Given the description of an element on the screen output the (x, y) to click on. 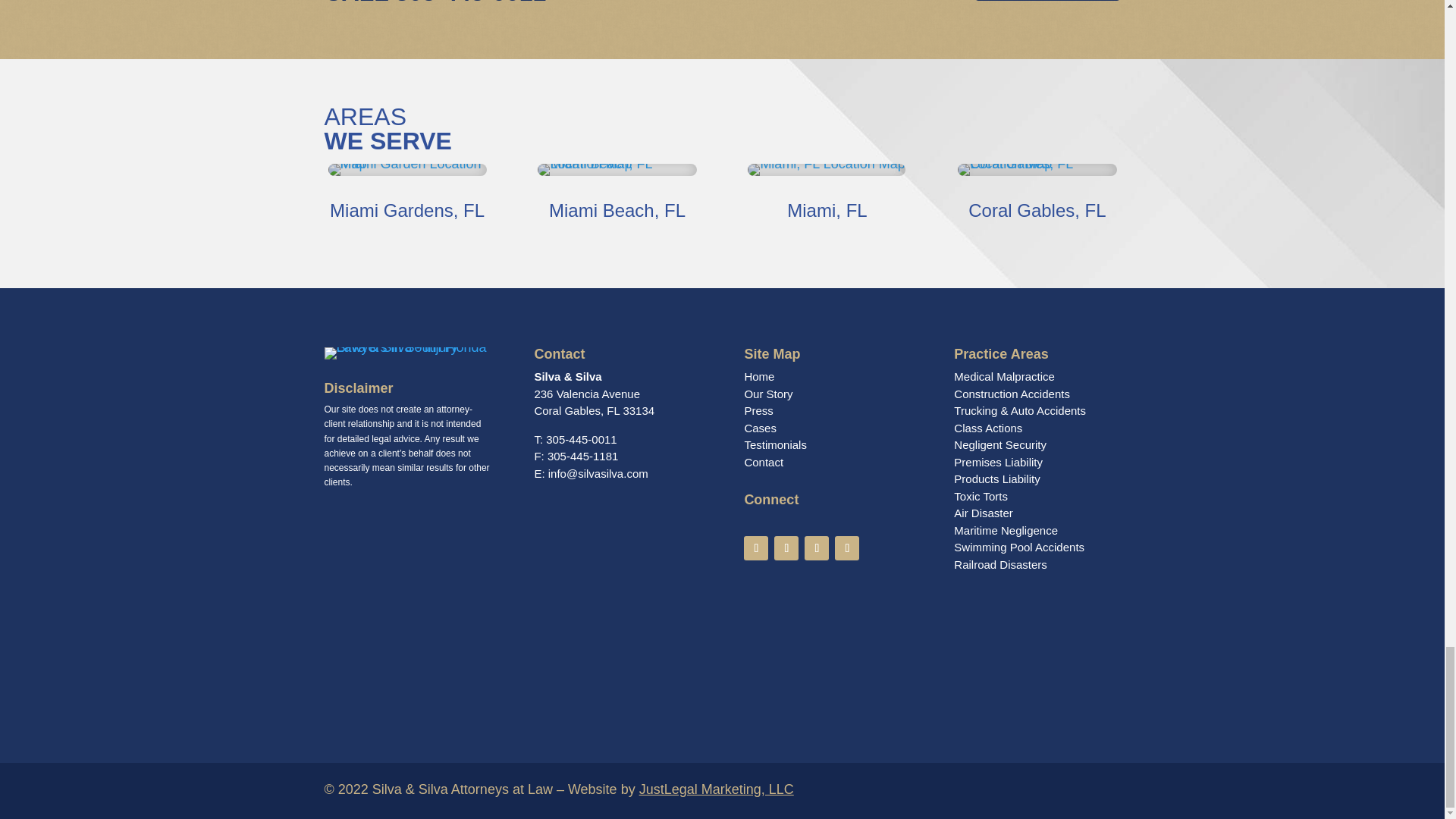
Follow on Facebook (756, 548)
Follow on Youtube (816, 548)
Miami Beach (616, 169)
Follow on X (785, 548)
Miami (826, 169)
Miami Gardens, FL (407, 209)
Coral Gables (1037, 169)
Follow on LinkedIn (846, 548)
305-445-0011 (470, 2)
